Given the description of an element on the screen output the (x, y) to click on. 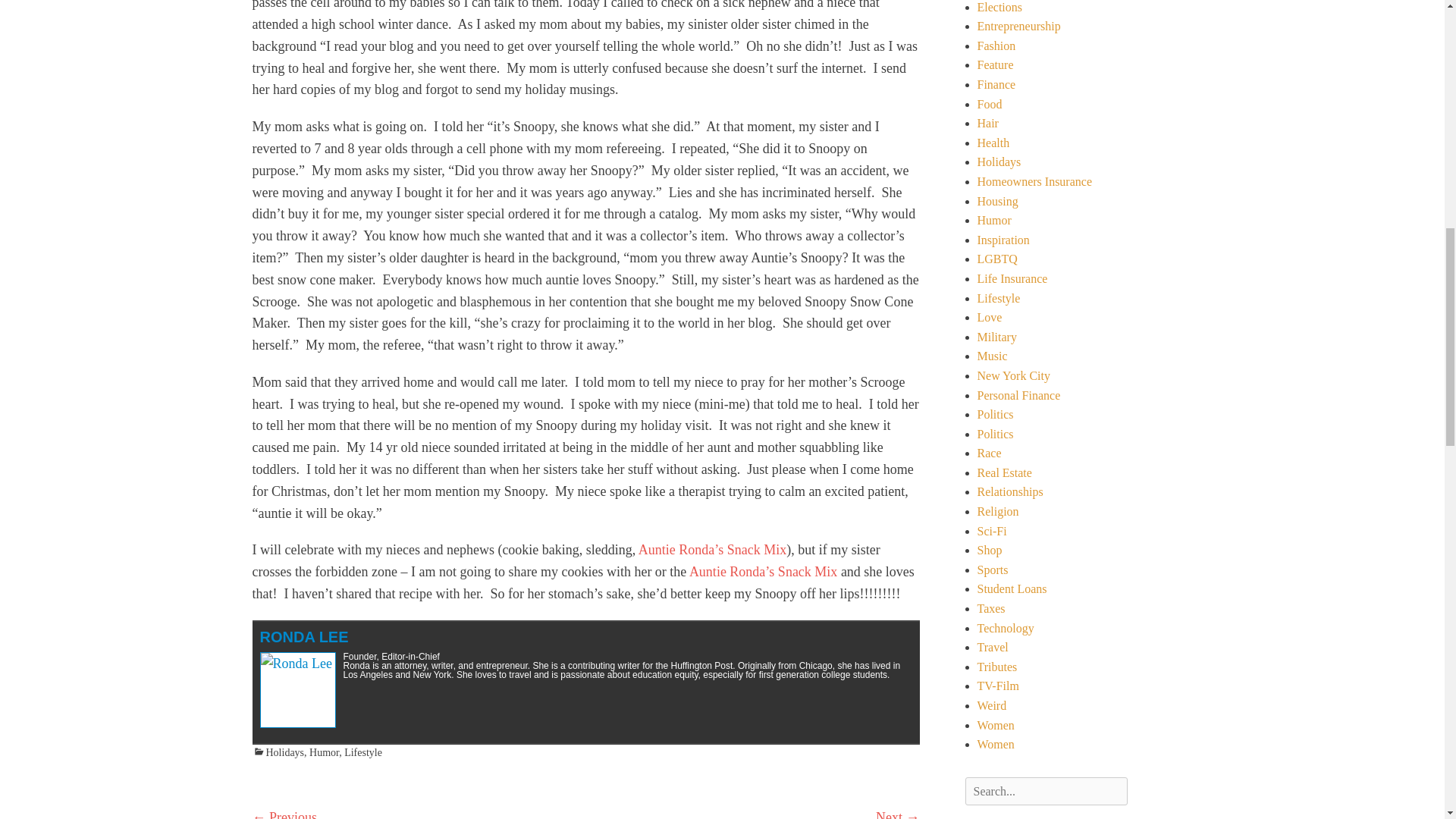
Holidays (277, 752)
Search for: (1044, 791)
Lifestyle (362, 752)
Ronda Lee (303, 636)
RONDA LEE (303, 636)
Humor (323, 752)
